Given the description of an element on the screen output the (x, y) to click on. 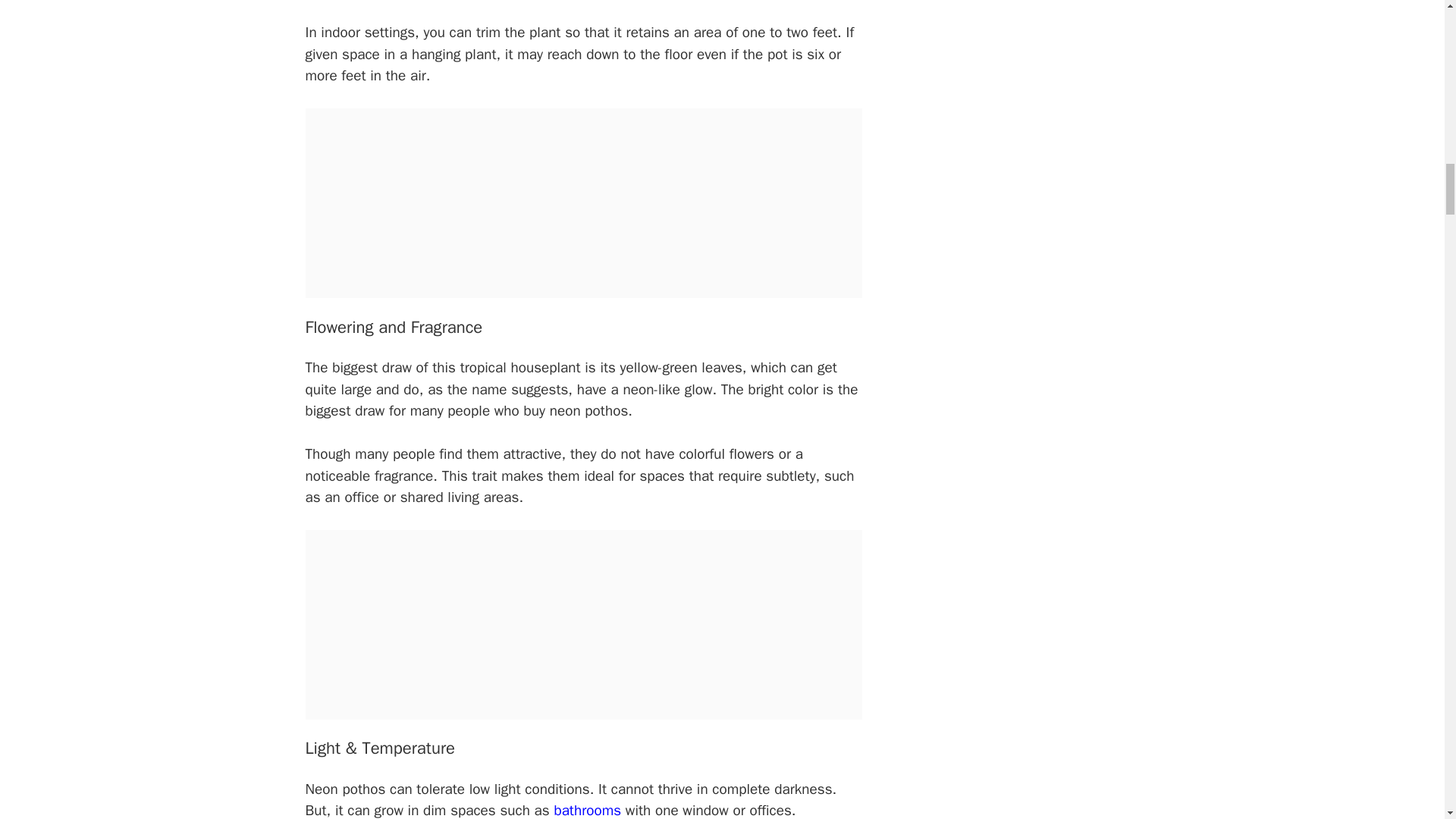
bathrooms (585, 810)
